Given the description of an element on the screen output the (x, y) to click on. 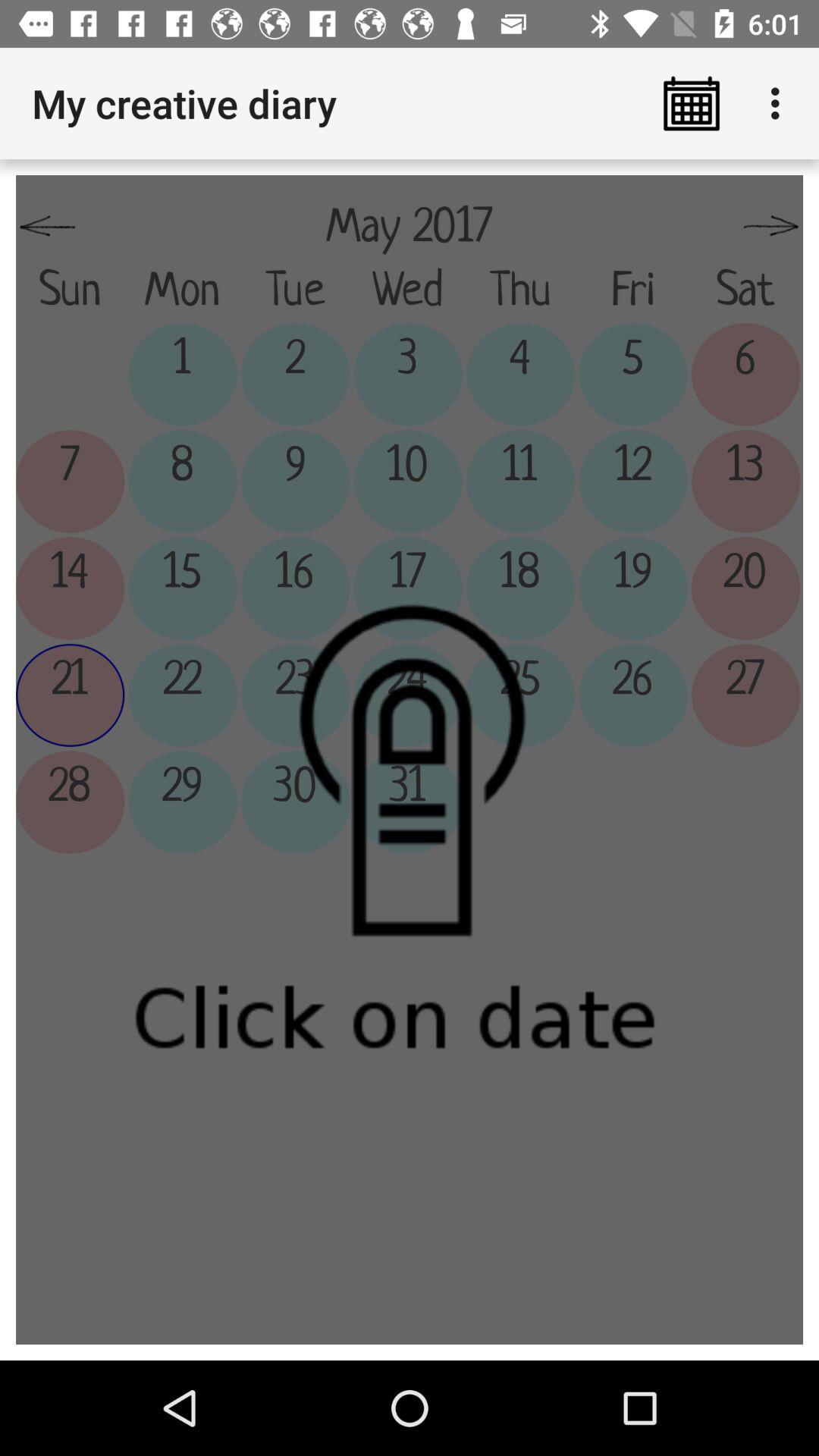
press the item next to may 2017 item (771, 226)
